Given the description of an element on the screen output the (x, y) to click on. 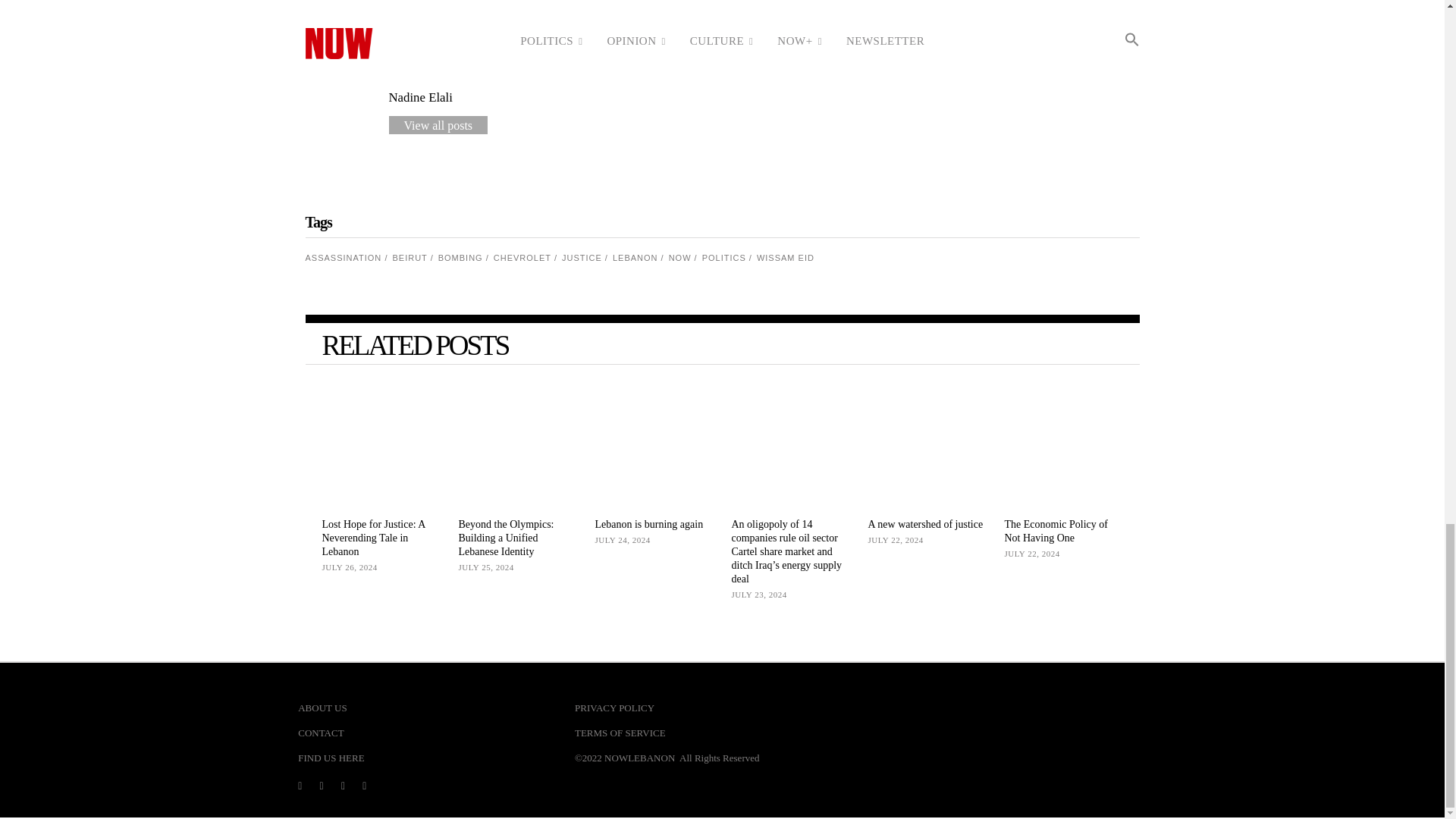
Ana Maria Luca (429, 1)
View all posts (437, 125)
Nadine Elali (419, 97)
View all posts (437, 23)
